Given the description of an element on the screen output the (x, y) to click on. 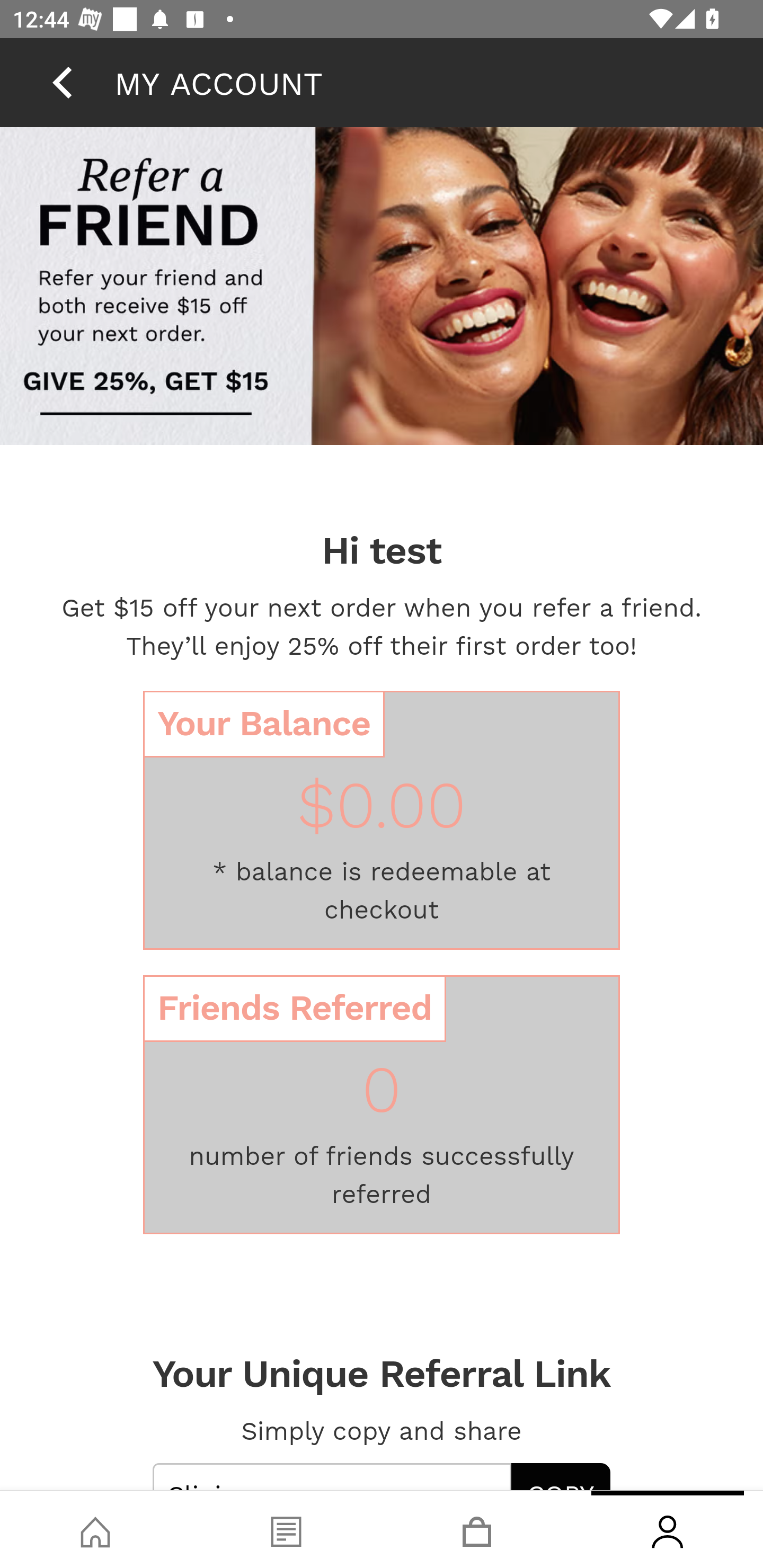
back (61, 82)
raf (381, 288)
Shop, tab, 1 of 4 (95, 1529)
Blog, tab, 2 of 4 (285, 1529)
Basket, tab, 3 of 4 (476, 1529)
Account, tab, 4 of 4 (667, 1529)
